Given the description of an element on the screen output the (x, y) to click on. 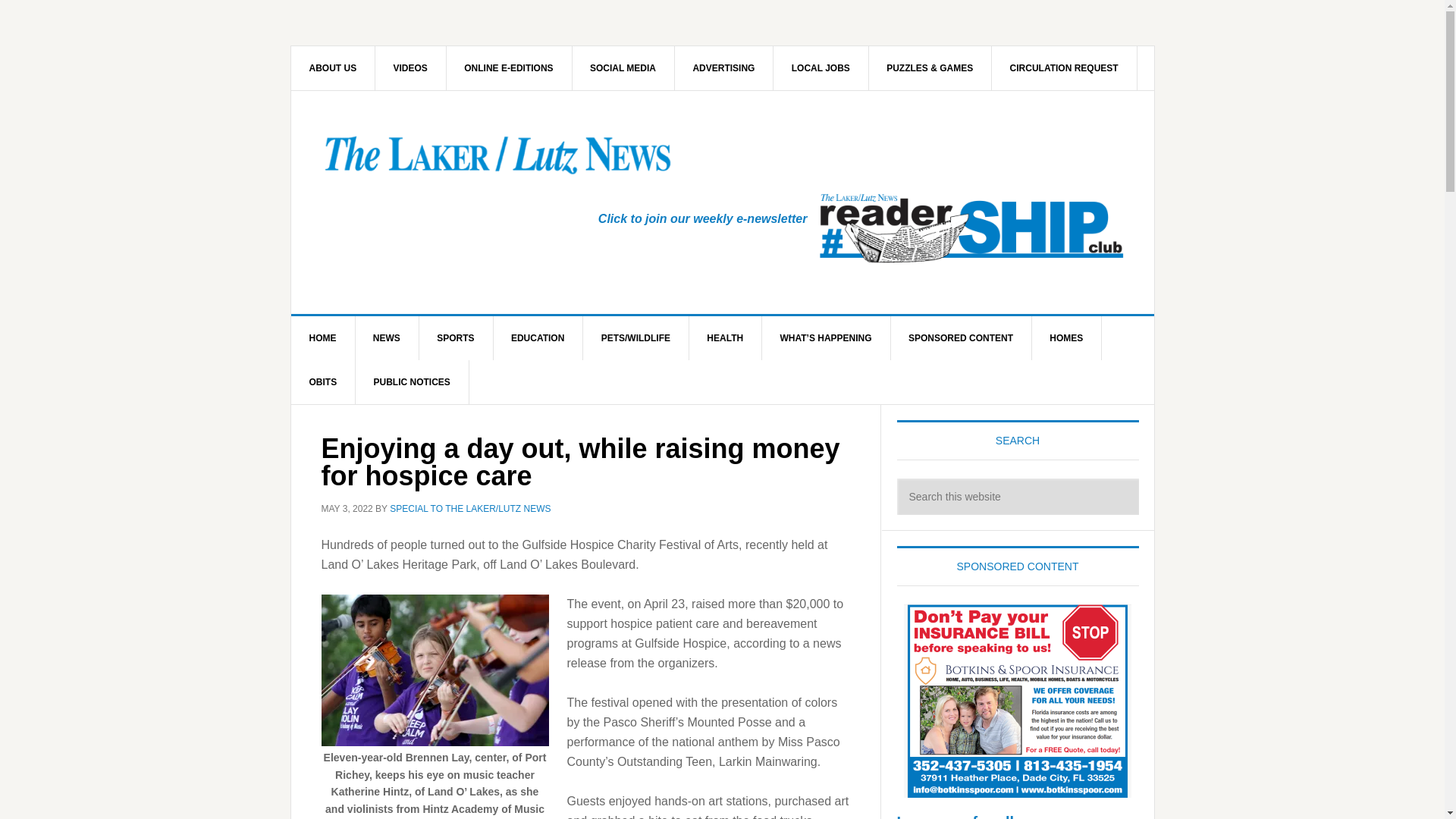
NEWS (387, 338)
SOCIAL MEDIA (623, 67)
CIRCULATION REQUEST (1064, 67)
ABOUT US (333, 67)
Click to join our weekly e-newsletter (703, 218)
VIDEOS (410, 67)
ONLINE E-EDITIONS (508, 67)
ADVERTISING (723, 67)
LOCAL JOBS (821, 67)
HOME (323, 338)
